Given the description of an element on the screen output the (x, y) to click on. 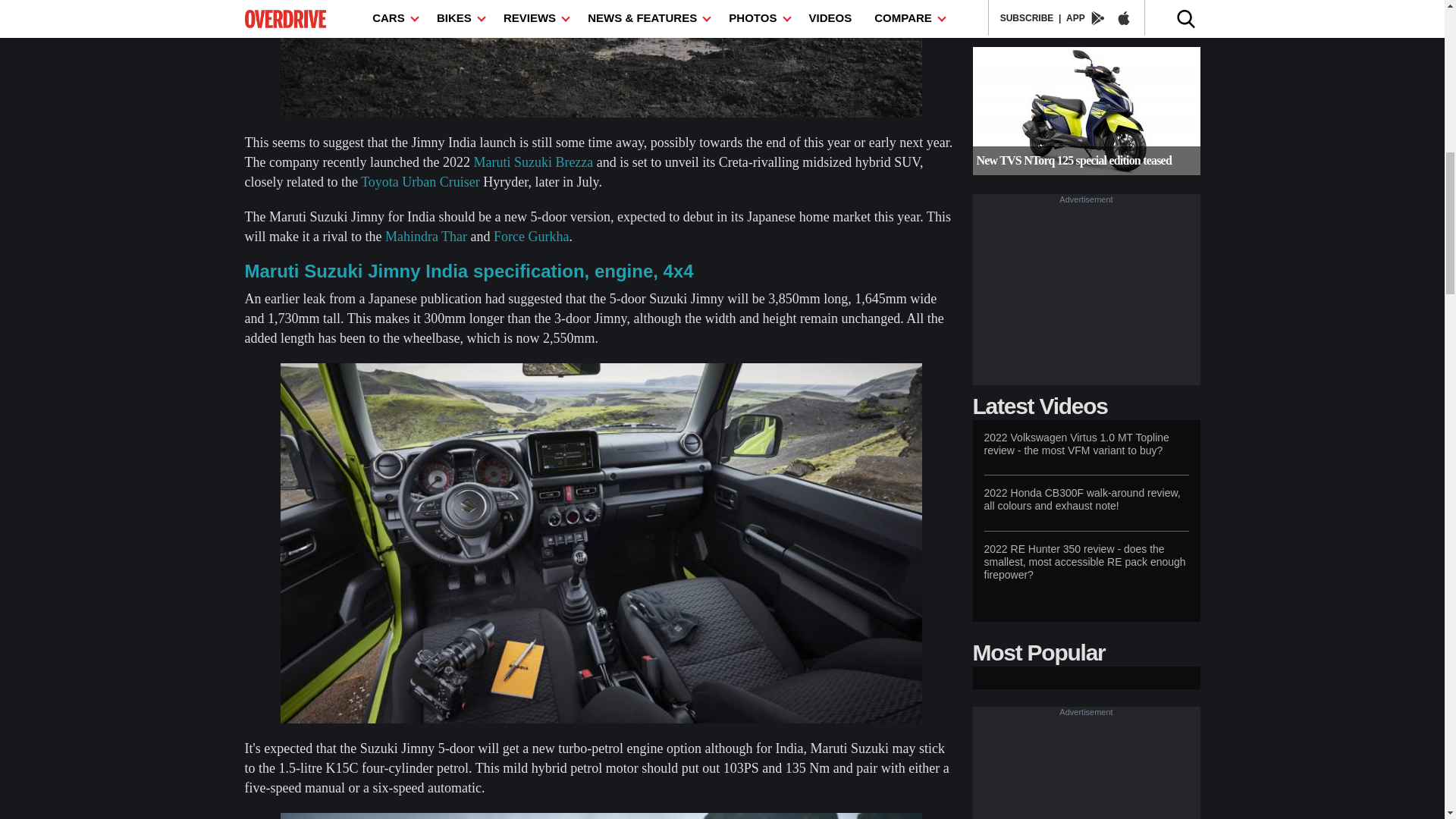
Maruti Suzuki confirms Jimny India launch plans (601, 58)
